Given the description of an element on the screen output the (x, y) to click on. 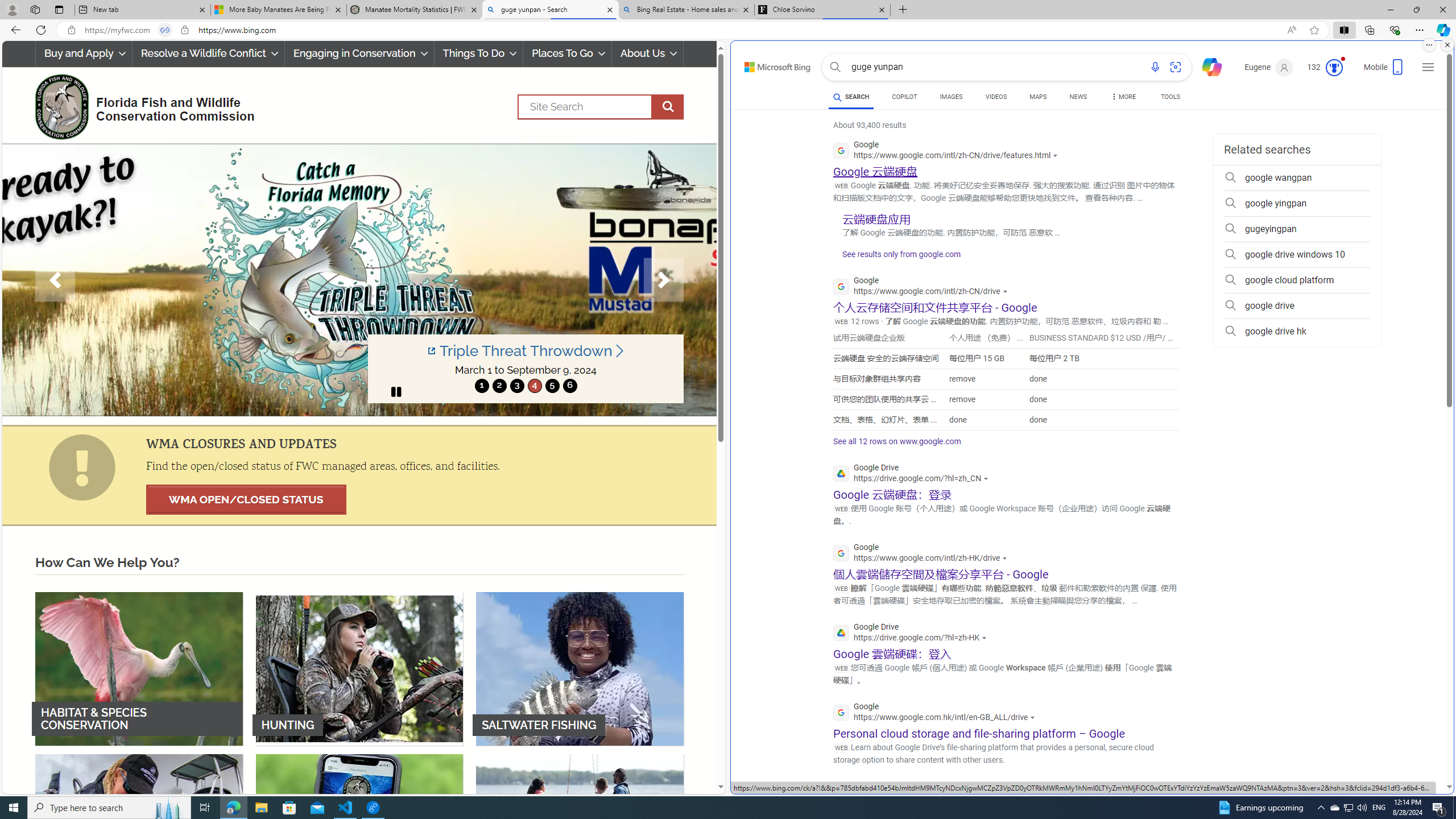
Settings and quick links (1428, 67)
New tab (142, 9)
WMA OPEN/CLOSED STATUS (245, 499)
5 (551, 385)
Search (600, 106)
Close (1442, 9)
Browser essentials (1394, 29)
TOOLS (1171, 98)
Engaging in Conservation (358, 53)
google wangpan (1297, 177)
Personal Profile (12, 9)
google drive (1297, 305)
Read aloud this page (Ctrl+Shift+U) (1291, 29)
